Given the description of an element on the screen output the (x, y) to click on. 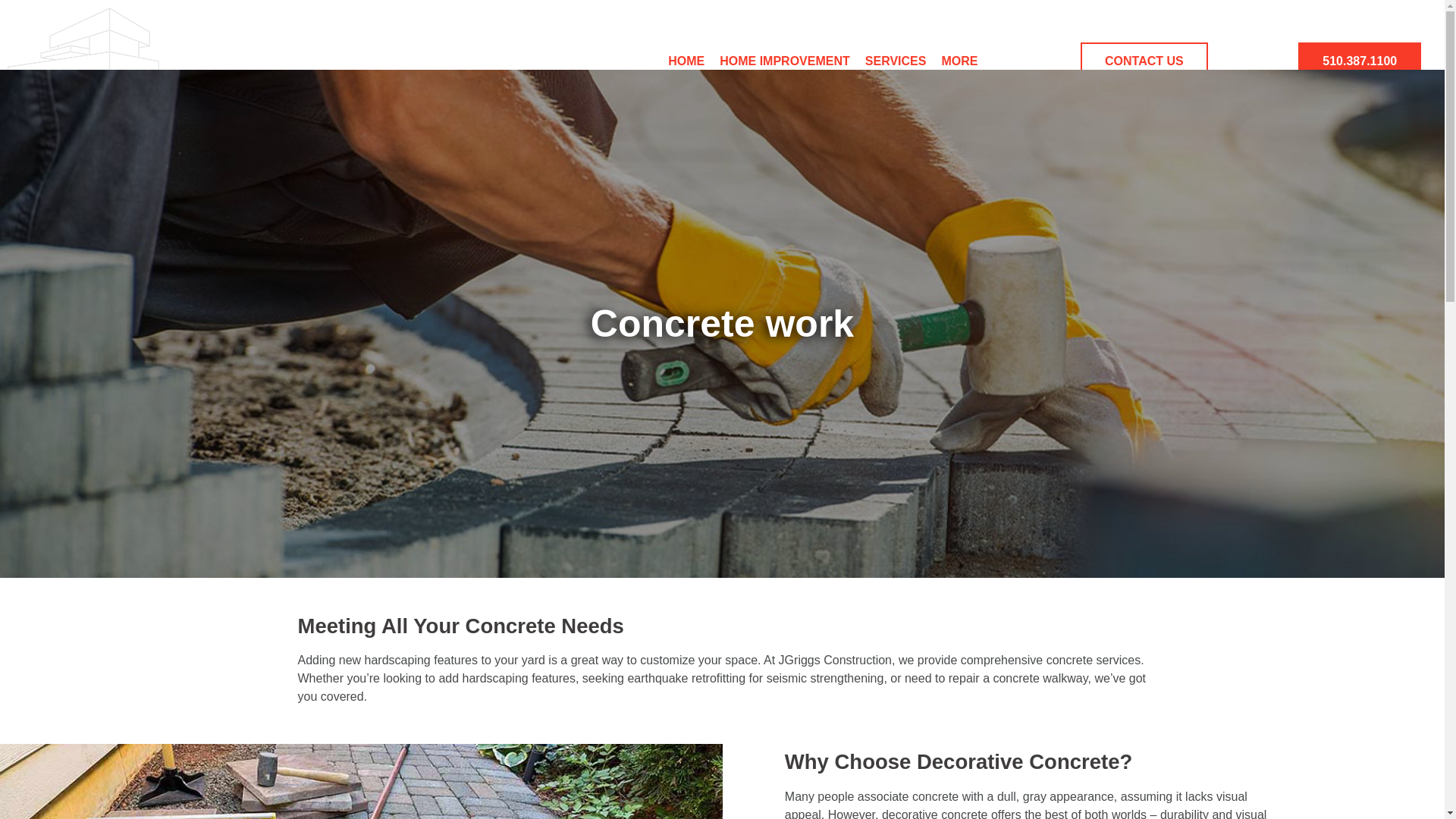
HOME (686, 60)
510.387.1100 (1359, 61)
CONTACT US (1144, 61)
MORE (959, 60)
HOME IMPROVEMENT (784, 60)
SERVICES (895, 60)
